Given the description of an element on the screen output the (x, y) to click on. 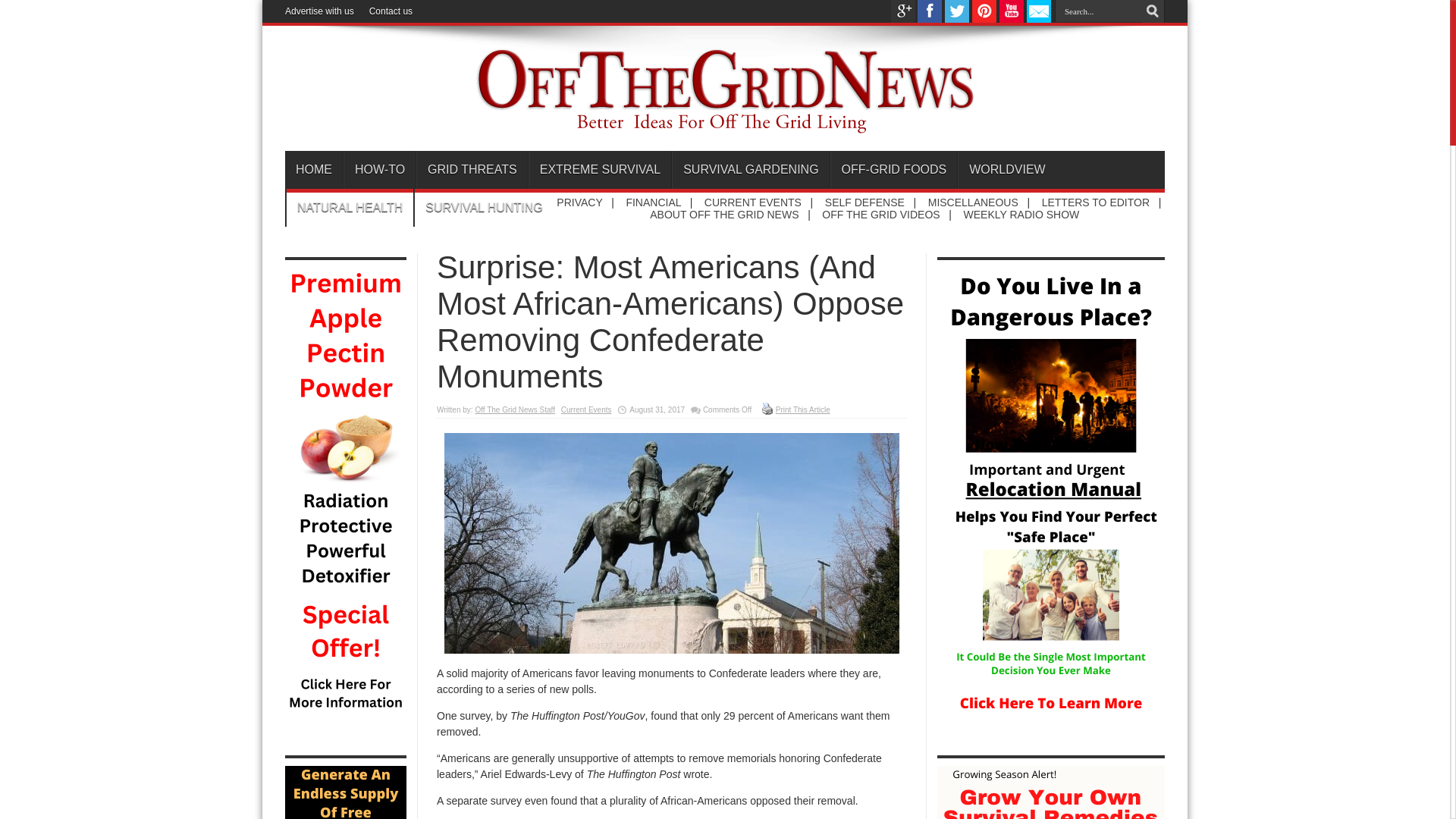
Search (1152, 11)
Off The Grid News (725, 125)
Search (1152, 11)
MISCELLANEOUS (972, 202)
SELF DEFENSE (864, 202)
PRIVACY (579, 202)
HOME (313, 169)
Search (1152, 11)
Print This Article (767, 408)
Send an email to Off The Grid News (1038, 19)
CURRENT EVENTS (753, 202)
Print This Article (802, 409)
Contact us (390, 11)
OFF THE GRID VIDEOS (880, 214)
FINANCIAL (653, 202)
